Given the description of an element on the screen output the (x, y) to click on. 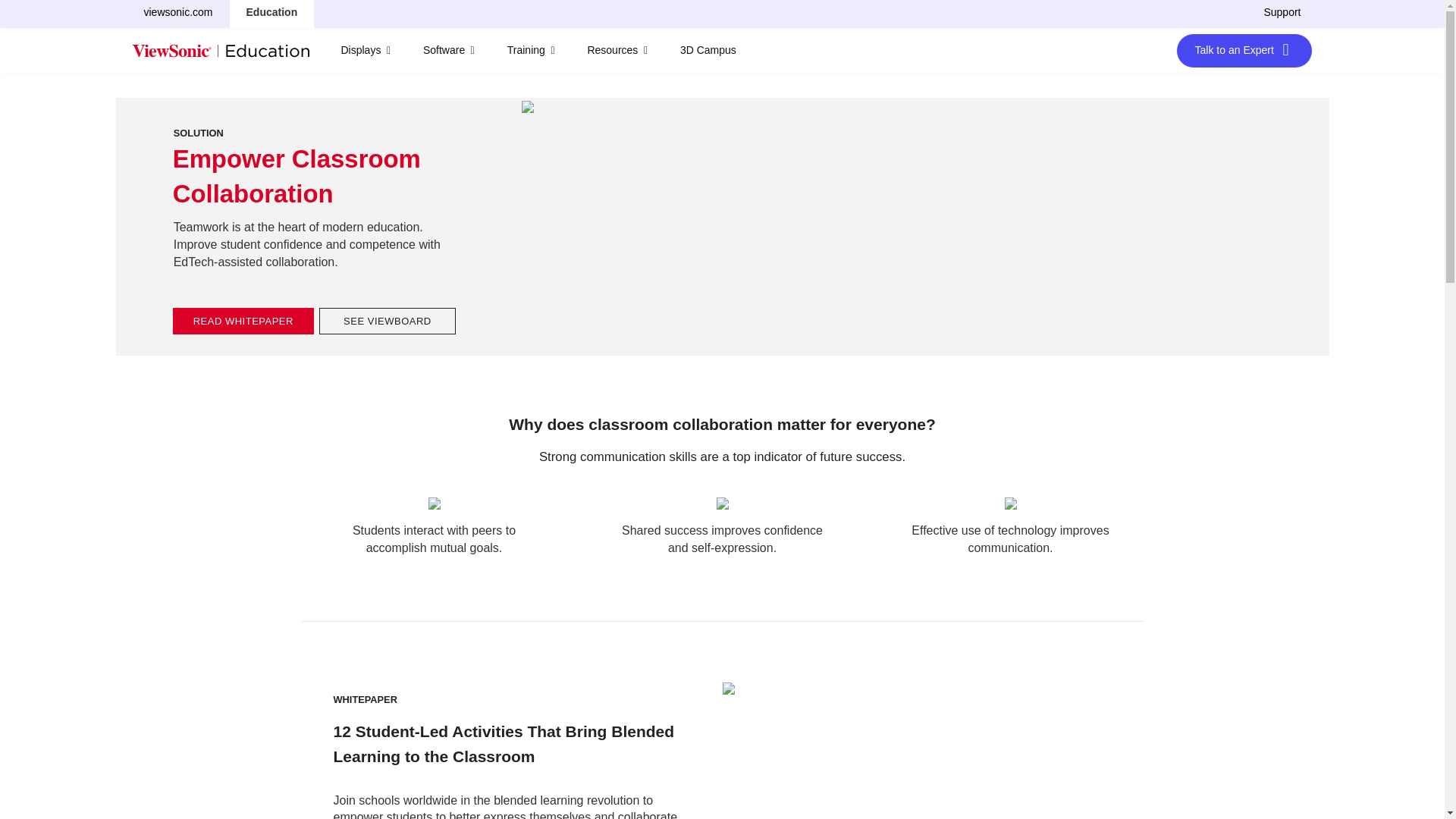
Support (1281, 12)
Education (271, 12)
Displays (365, 50)
viewsonic.com (178, 12)
